Given the description of an element on the screen output the (x, y) to click on. 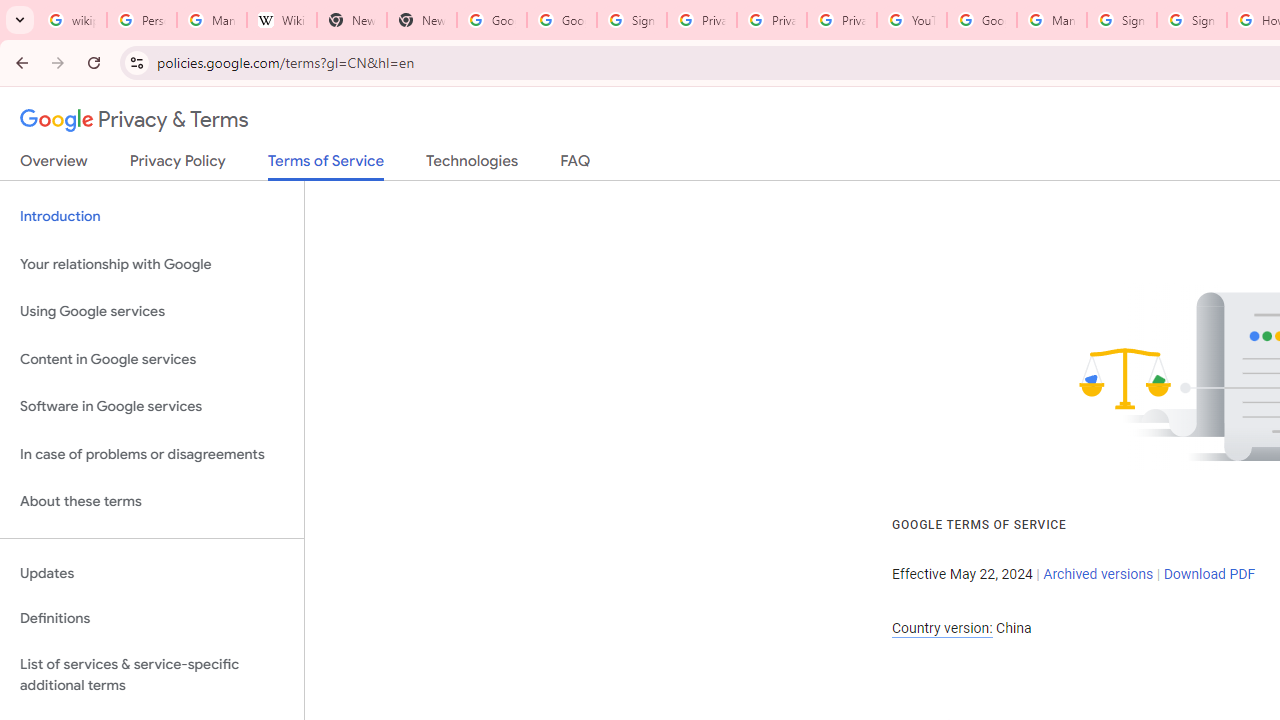
Content in Google services (152, 358)
Google Drive: Sign-in (561, 20)
New Tab (421, 20)
Updates (152, 573)
Terms of Service (326, 166)
Sign in - Google Accounts (631, 20)
